Given the description of an element on the screen output the (x, y) to click on. 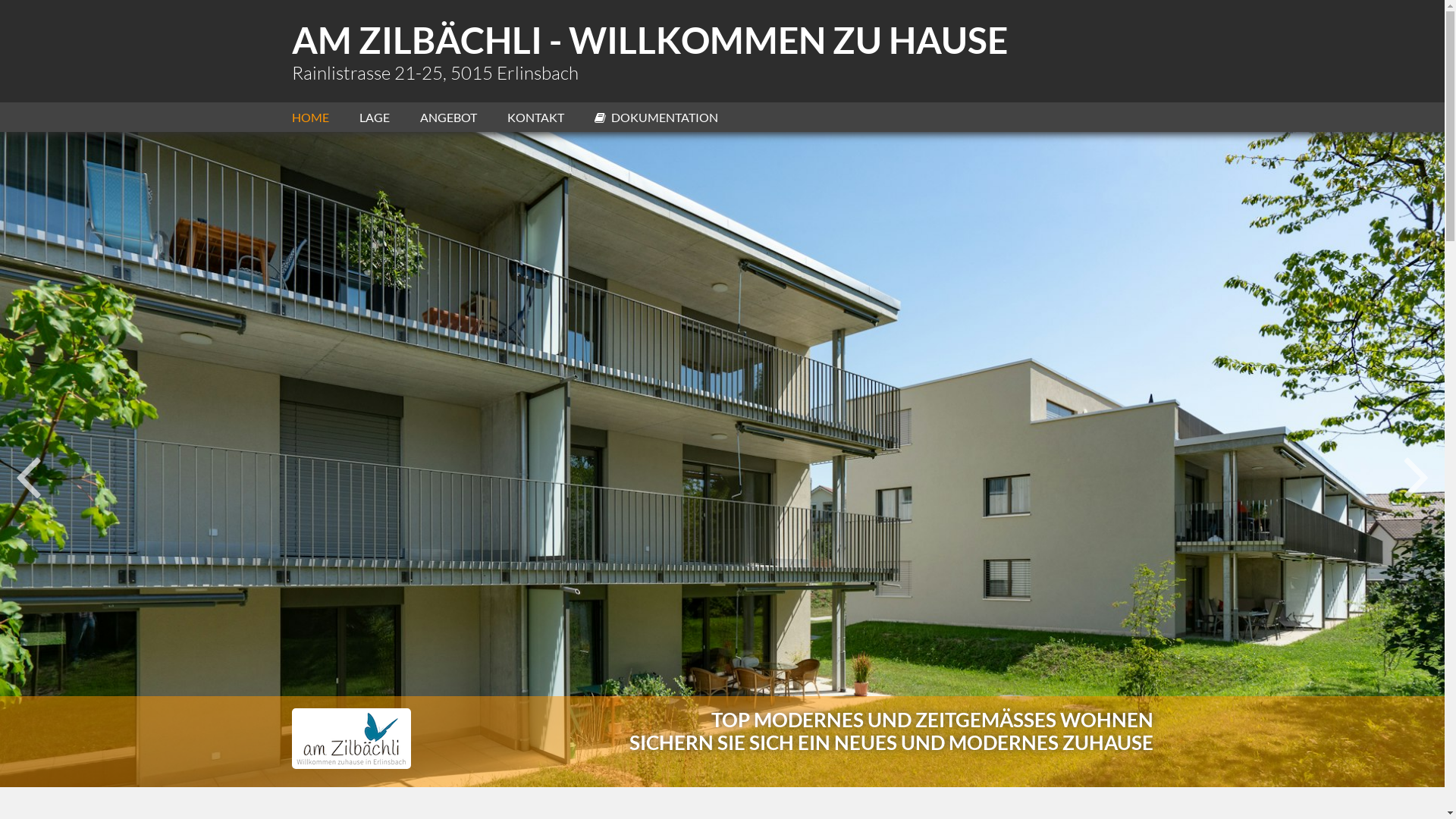
HOME Element type: text (324, 116)
ANGEBOT Element type: text (463, 116)
LAGE Element type: text (389, 116)
KONTAKT Element type: text (549, 116)
DOKUMENTATION Element type: text (671, 116)
